Given the description of an element on the screen output the (x, y) to click on. 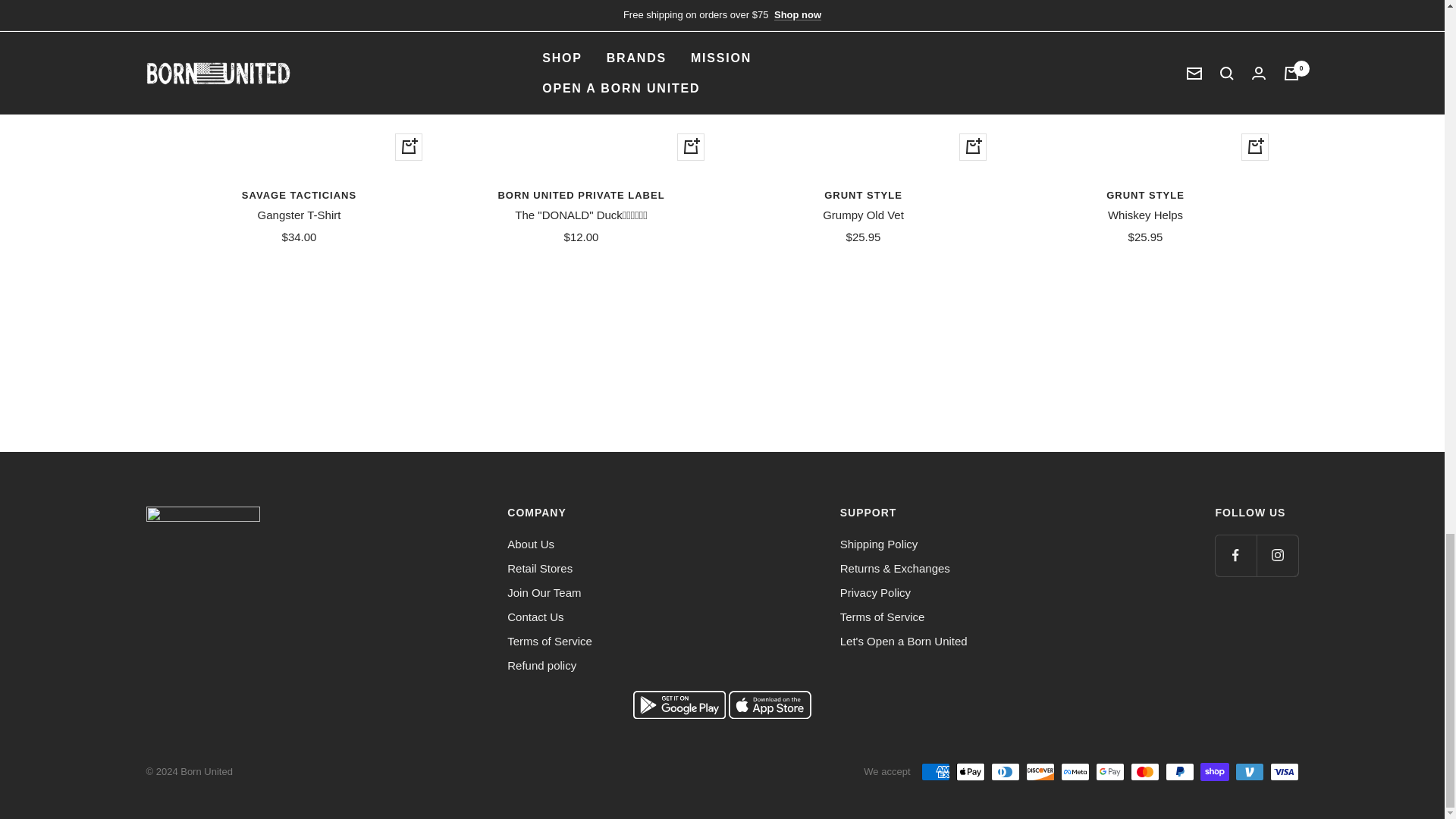
Apple (769, 714)
Google Play Store (681, 714)
